Given the description of an element on the screen output the (x, y) to click on. 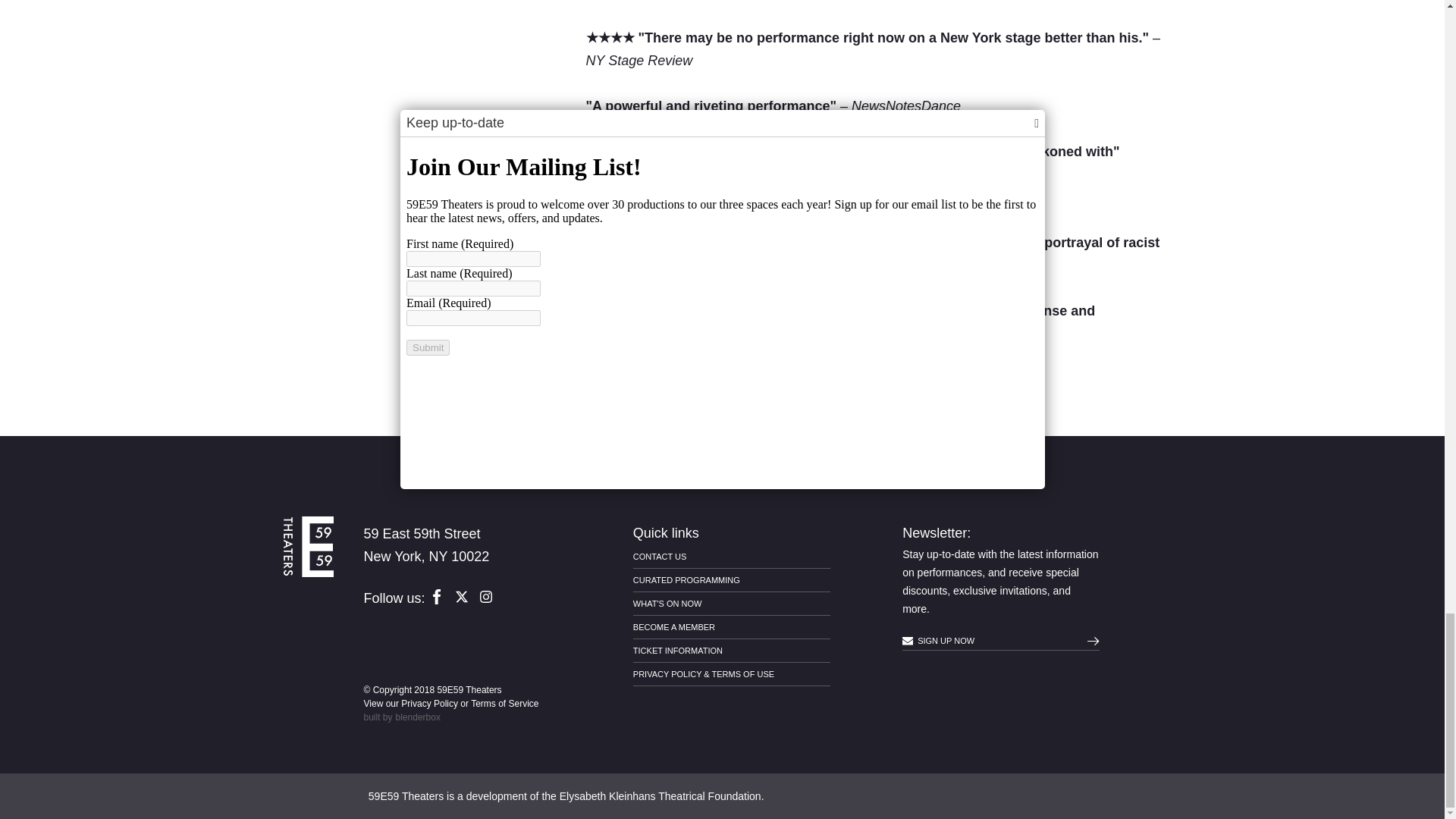
email (907, 641)
right arrow (1093, 641)
